Given the description of an element on the screen output the (x, y) to click on. 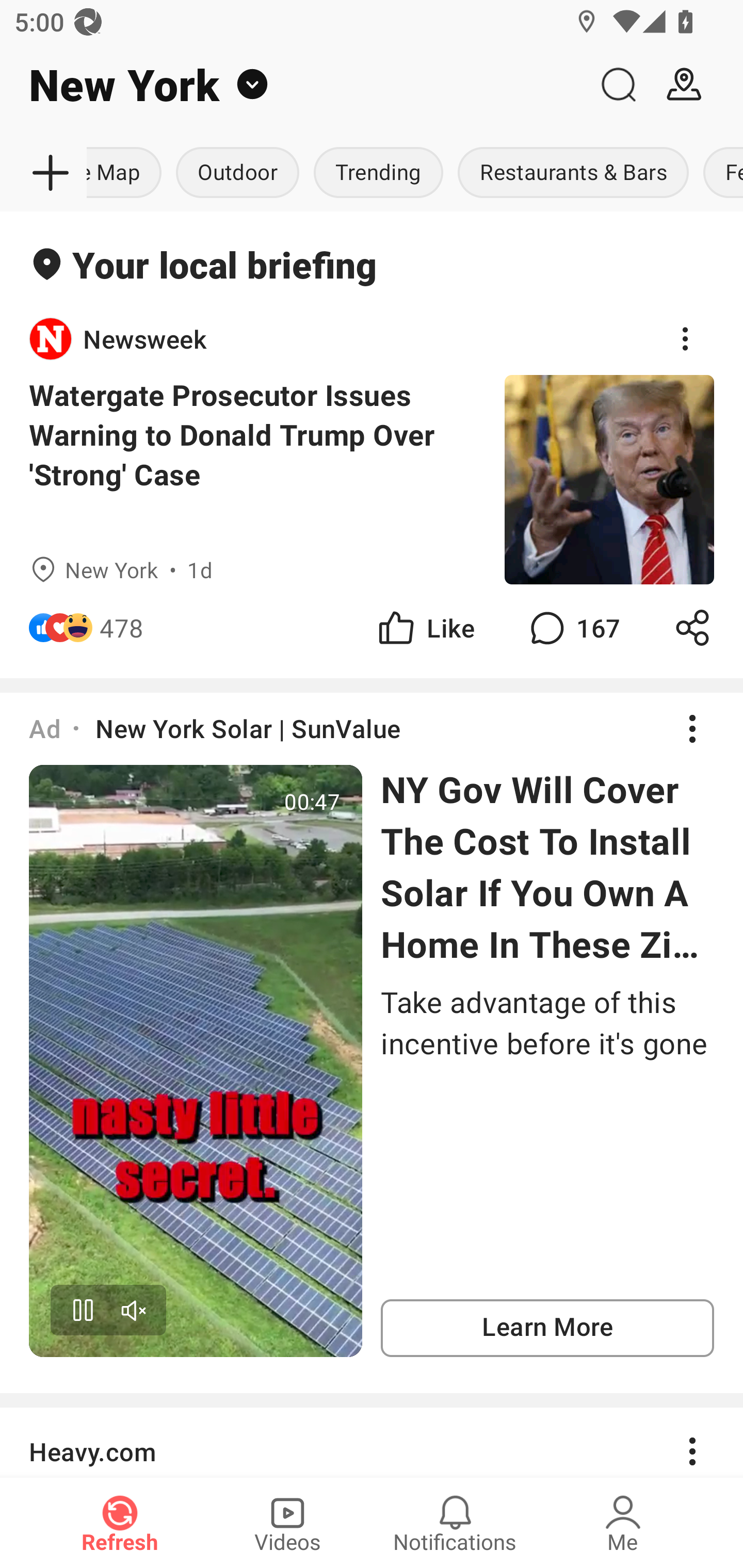
New York (292, 84)
Outdoor (237, 172)
Trending (378, 172)
Restaurants & Bars (573, 172)
478 (121, 627)
Like (425, 627)
167 (572, 627)
New York Solar | SunValue (248, 727)
00:47 (195, 1060)
Take advantage of this incentive before it's gone (547, 1022)
Learn More (547, 1327)
Heavy.com (371, 1442)
Videos (287, 1522)
Notifications (455, 1522)
Me (622, 1522)
